Given the description of an element on the screen output the (x, y) to click on. 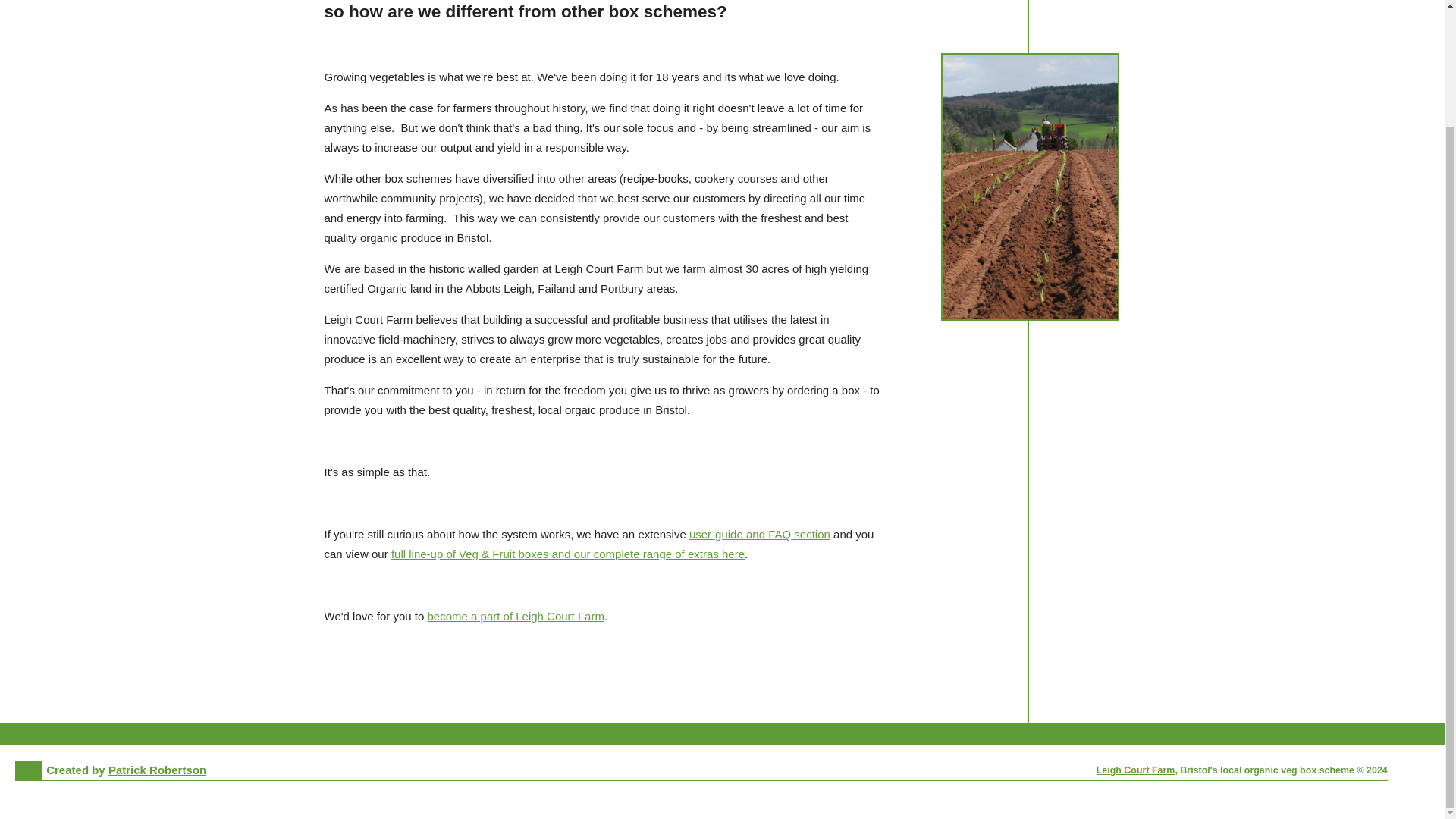
become a part of Leigh Court Farm (516, 615)
user-guide and FAQ section (758, 533)
Patrick Robertson (156, 769)
Leigh Court Farm (1135, 769)
